Given the description of an element on the screen output the (x, y) to click on. 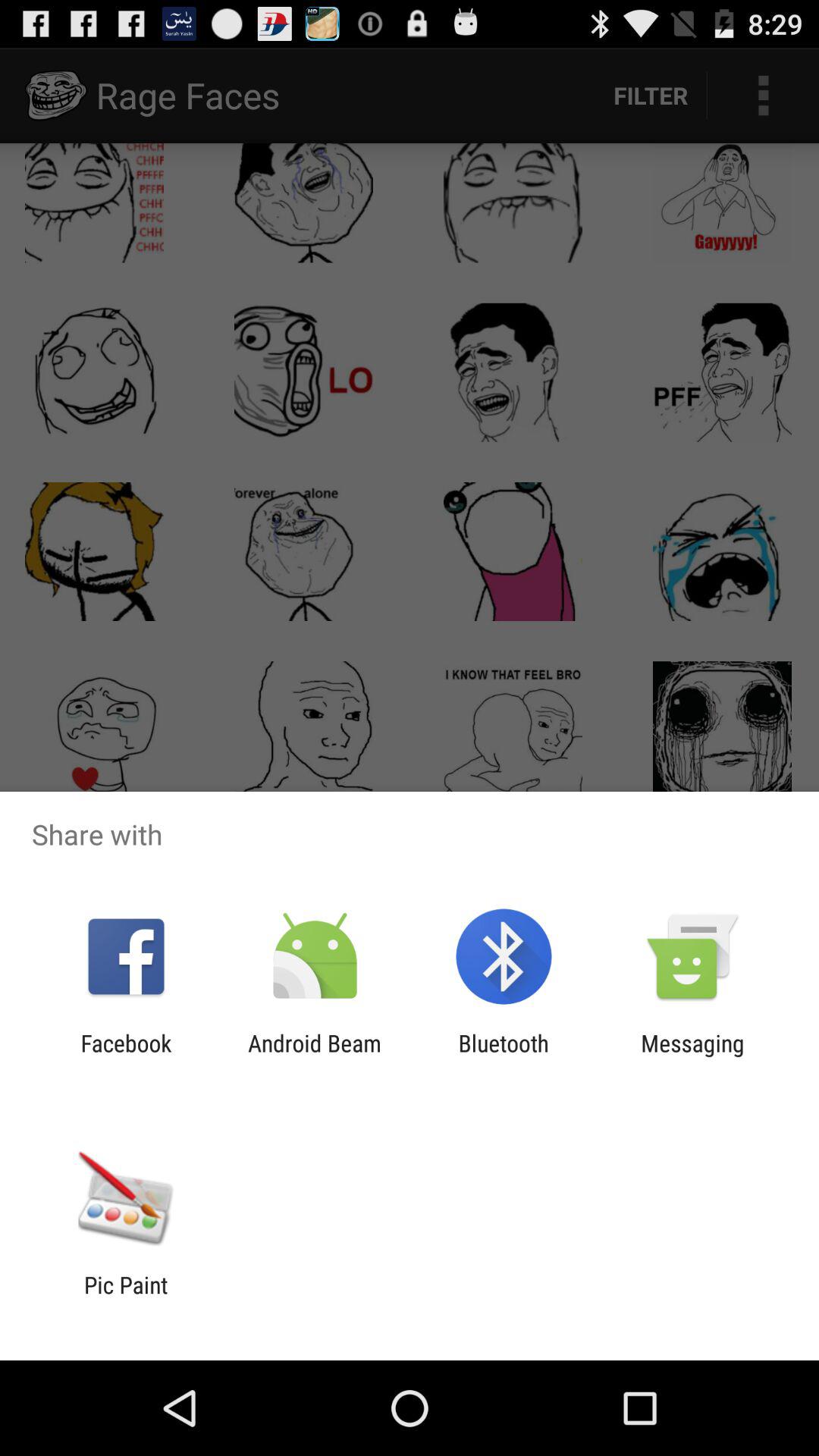
choose messaging item (692, 1056)
